Given the description of an element on the screen output the (x, y) to click on. 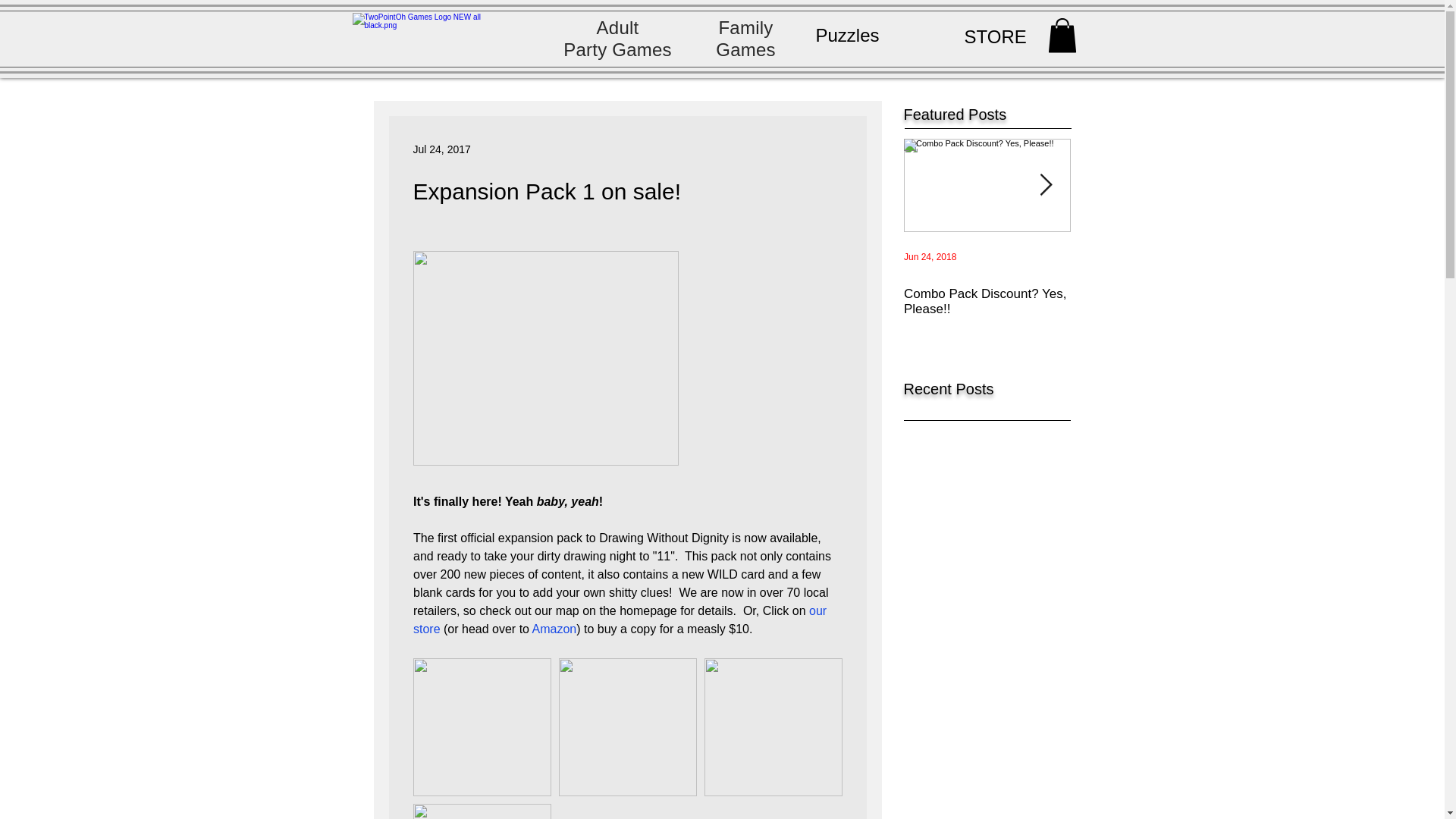
our store (620, 620)
Adult (617, 27)
Puzzles (847, 35)
Feb 28, 2017 (1097, 256)
In stock, but you gotta be quick! (1153, 301)
Jul 24, 2017 (441, 149)
Amazon (553, 629)
Games (746, 49)
Party Games (617, 49)
STORE (994, 36)
